Given the description of an element on the screen output the (x, y) to click on. 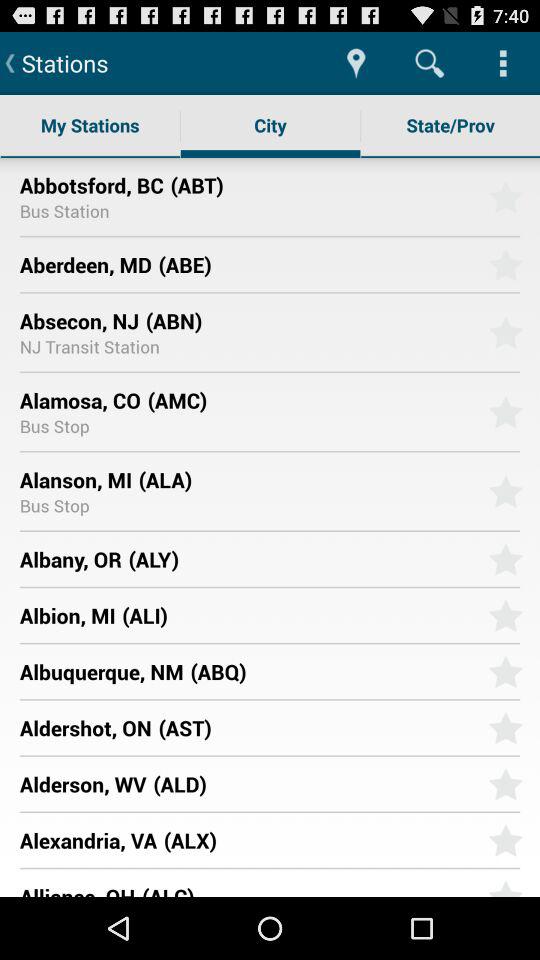
press icon next to (abt) icon (91, 184)
